Given the description of an element on the screen output the (x, y) to click on. 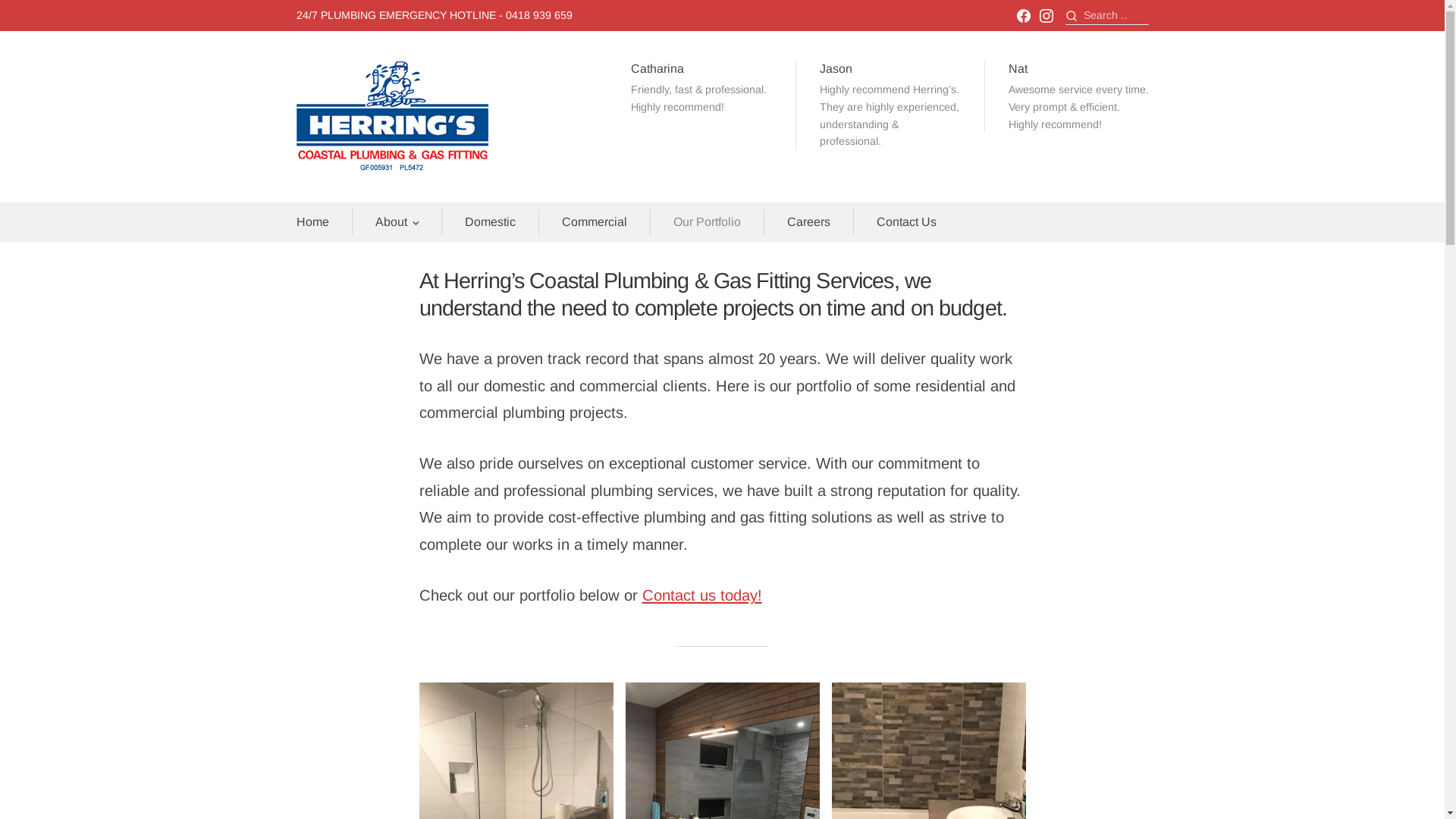
Home Element type: text (311, 221)
Contact us today! Element type: text (701, 594)
Domestic Element type: text (489, 221)
Facebook Element type: text (1022, 15)
Herring's Coastal Plumbing & Gasfitting Element type: text (454, 205)
Contact Us Element type: text (906, 221)
Our Portfolio Element type: text (706, 221)
Catharina
Friendly, fast & professional. Highly recommend! Element type: text (700, 94)
Commercial Element type: text (593, 221)
Careers Element type: text (808, 221)
Instagram Element type: text (1045, 15)
About Element type: text (390, 221)
